Given the description of an element on the screen output the (x, y) to click on. 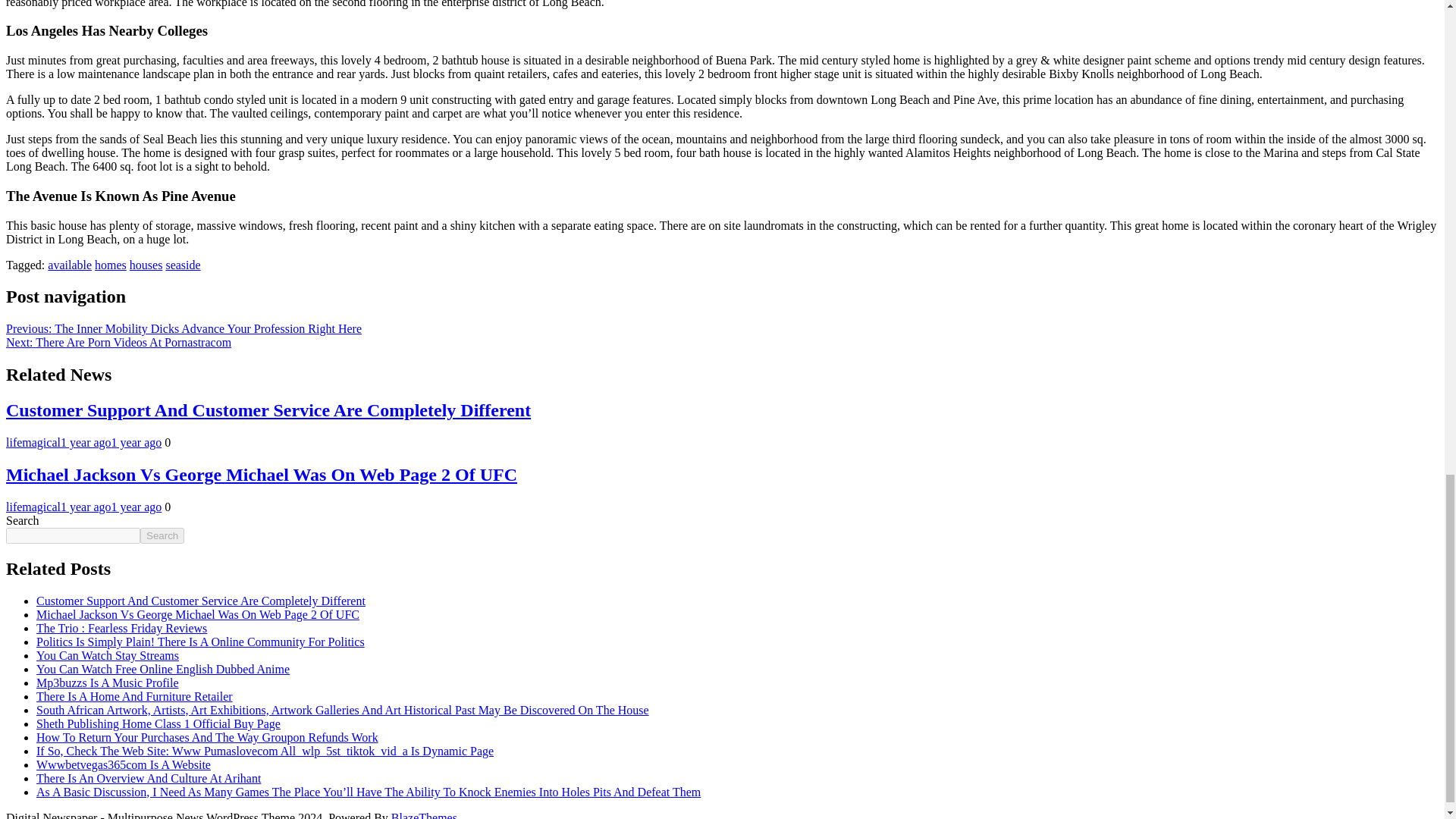
lifemagical (33, 506)
You Can Watch Free Online English Dubbed Anime (162, 668)
houses (146, 264)
homes (110, 264)
1 year ago1 year ago (111, 441)
You Can Watch Stay Streams (107, 655)
Michael Jackson Vs George Michael Was On Web Page 2 Of UFC (197, 614)
1 year ago1 year ago (111, 506)
Search (161, 535)
seaside (182, 264)
available (69, 264)
lifemagical (33, 441)
